Given the description of an element on the screen output the (x, y) to click on. 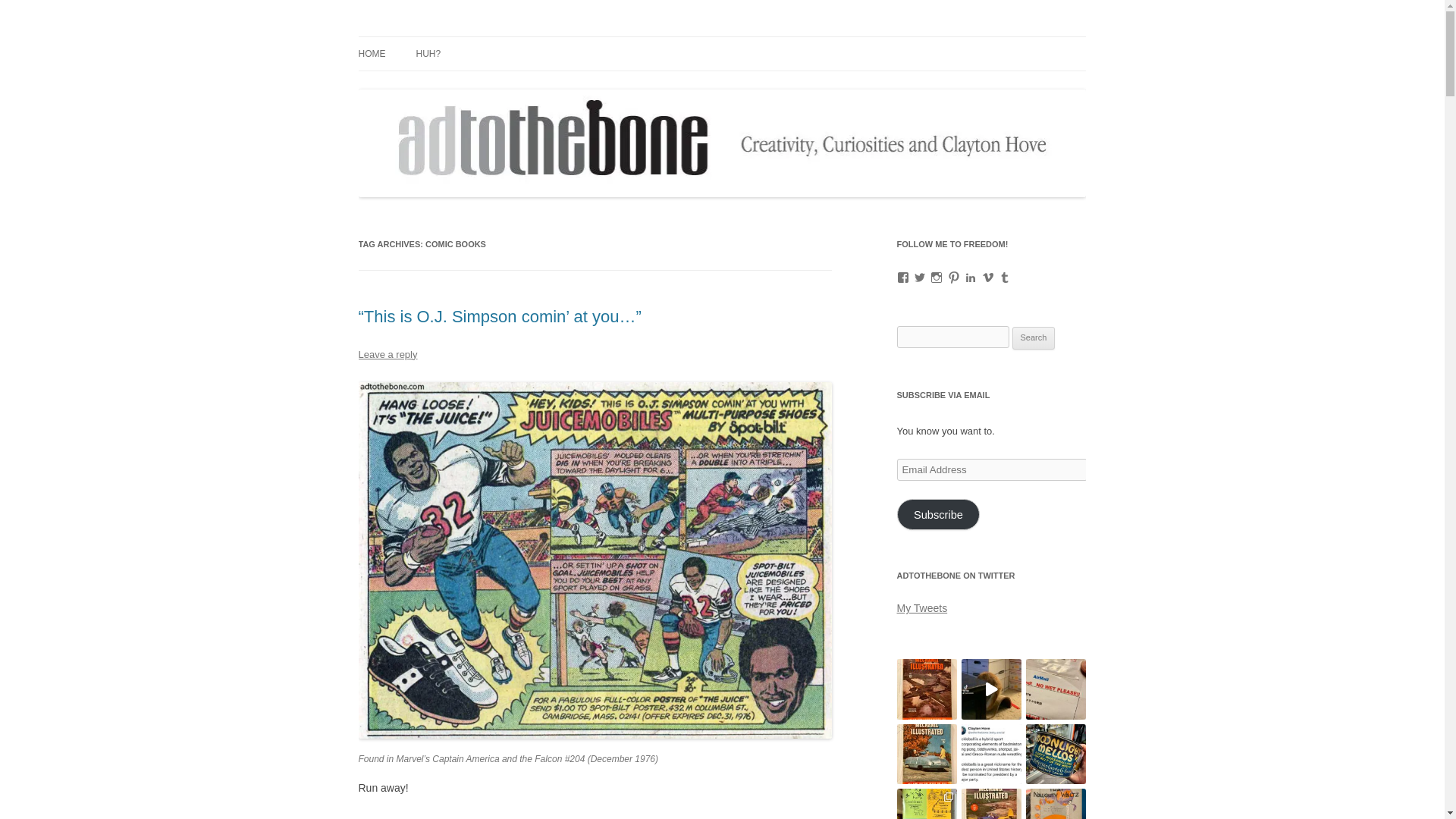
Clayton Hove's Ad to the Bone (501, 36)
HOME (371, 53)
HUH? (427, 53)
Leave a reply (387, 354)
Search (1033, 337)
